Given the description of an element on the screen output the (x, y) to click on. 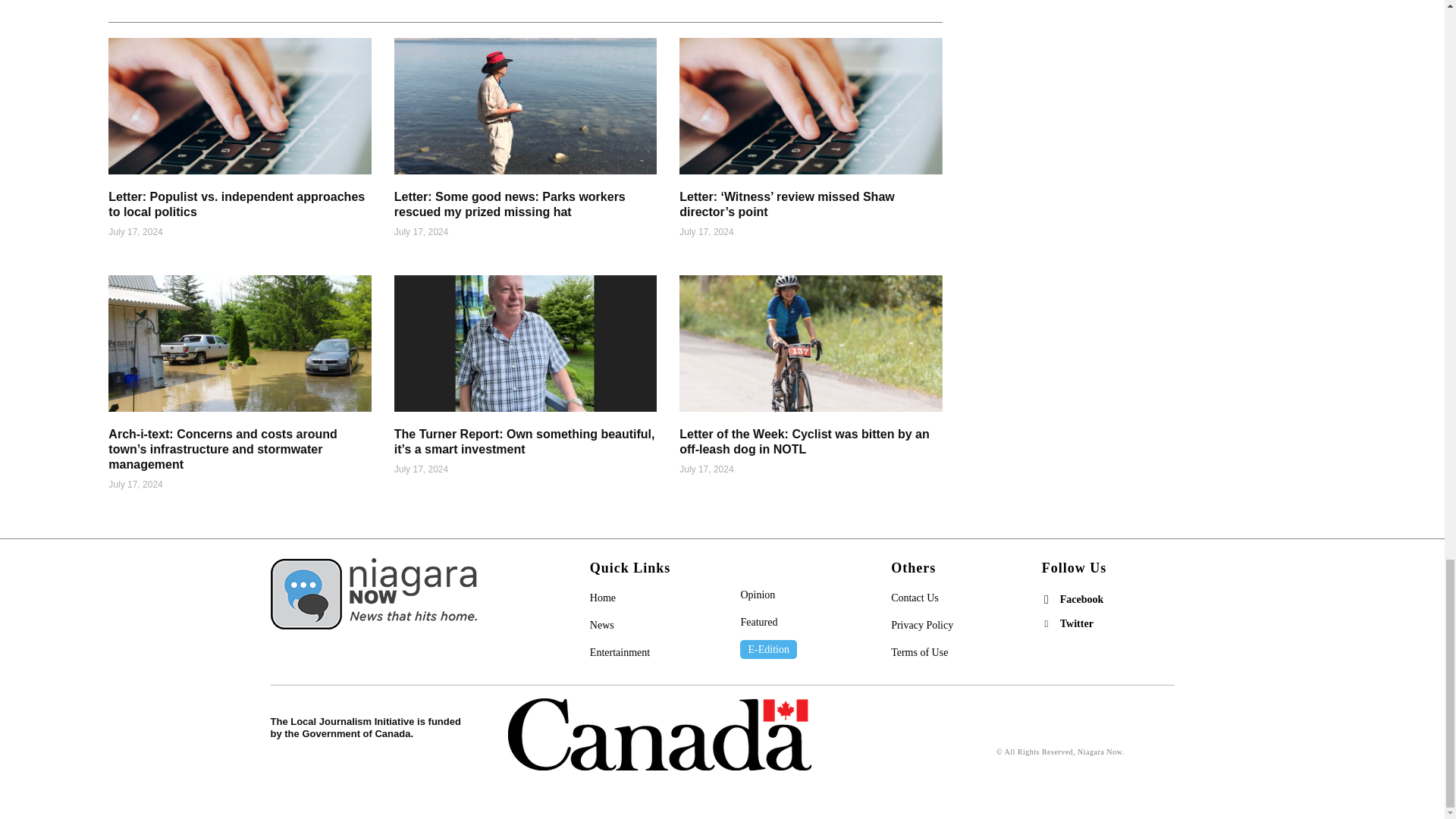
Twitter (1045, 623)
Canada (659, 734)
Facebook (1045, 599)
